Given the description of an element on the screen output the (x, y) to click on. 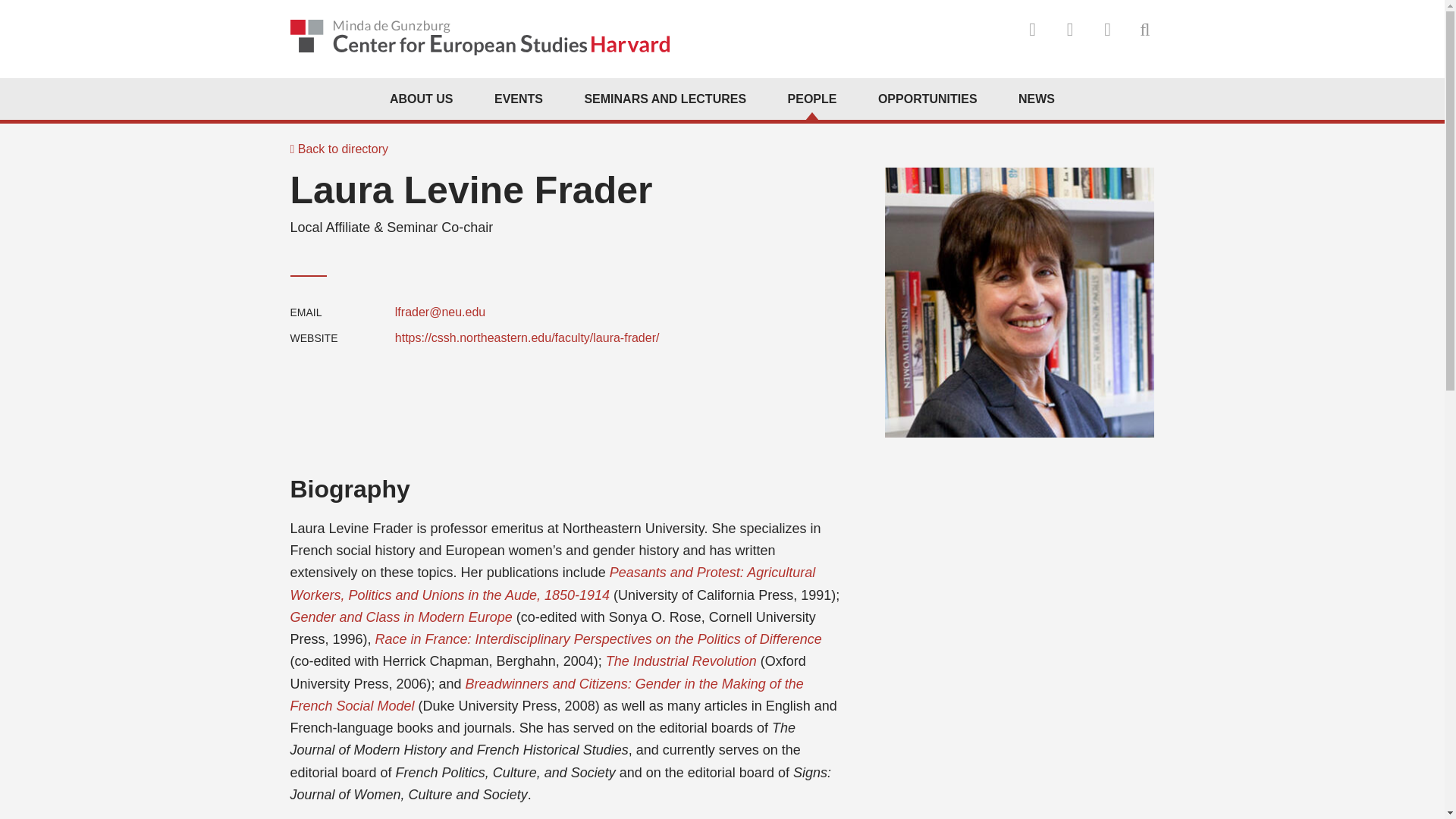
ABOUT US (421, 98)
EVENTS (519, 98)
SEMINARS AND LECTURES (664, 98)
PEOPLE (812, 98)
